Given the description of an element on the screen output the (x, y) to click on. 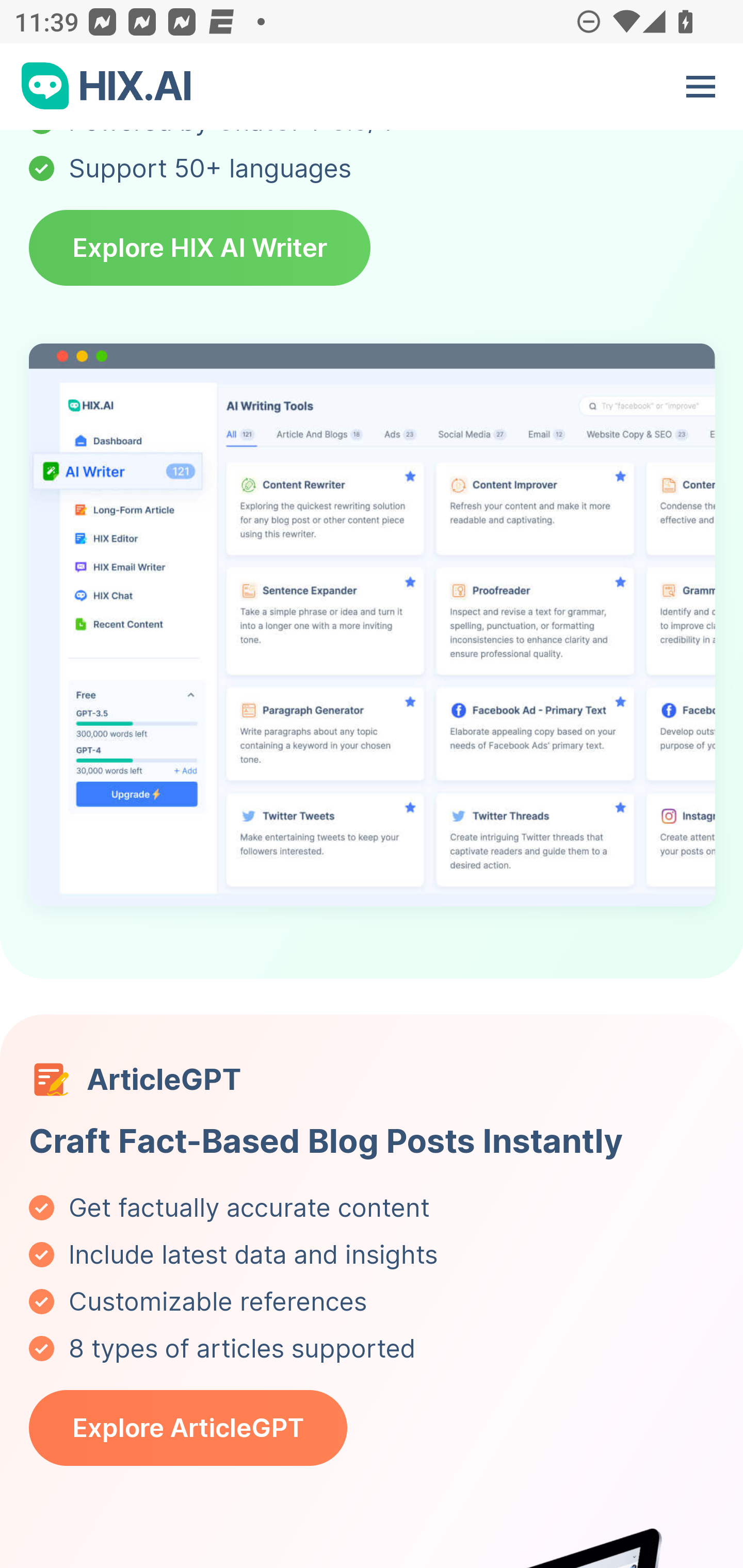
hix (107, 87)
Explore HIX AI Writer (200, 249)
Explore ArticleGPT (188, 1429)
